Given the description of an element on the screen output the (x, y) to click on. 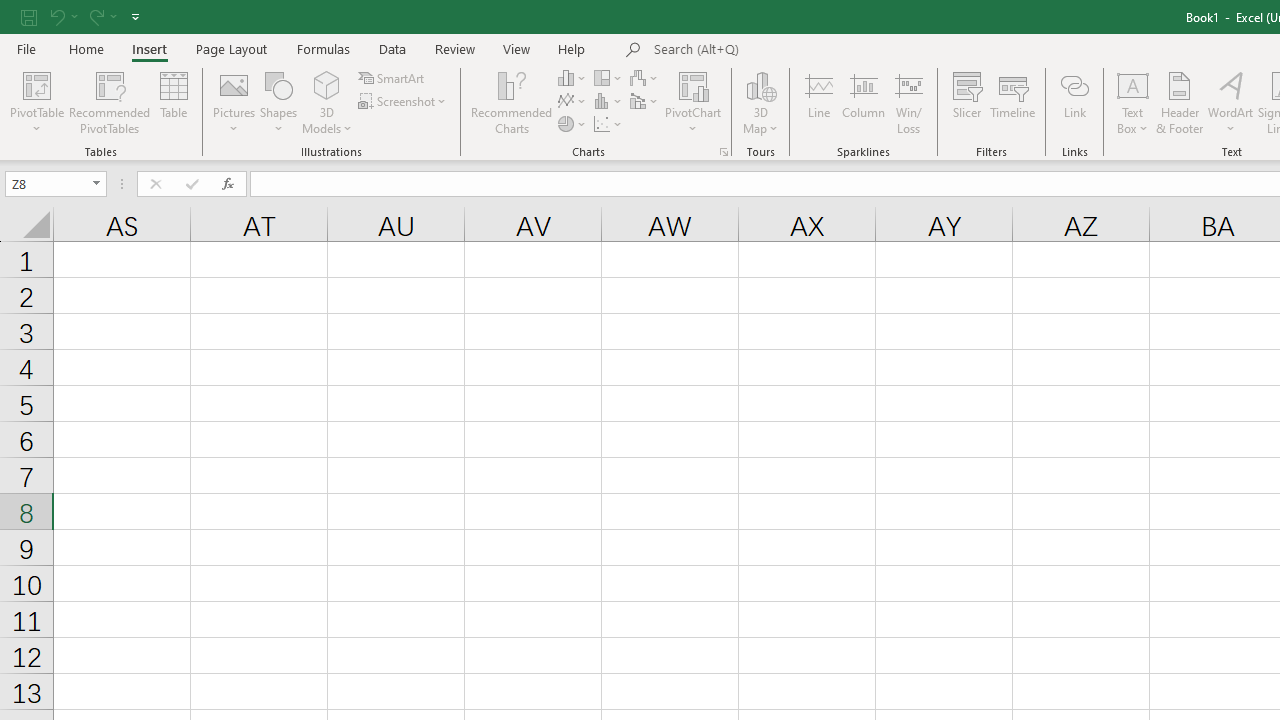
Pictures (234, 102)
Insert Scatter (X, Y) or Bubble Chart (609, 124)
Win/Loss (909, 102)
Open (96, 183)
Header & Footer... (1179, 102)
Insert (149, 48)
Save (29, 15)
Quick Access Toolbar (82, 16)
Screenshot (403, 101)
Text Box (1133, 102)
Table (173, 102)
Customize Quick Access Toolbar (135, 15)
Help (572, 48)
Microsoft search (792, 49)
3D Models (326, 102)
